Given the description of an element on the screen output the (x, y) to click on. 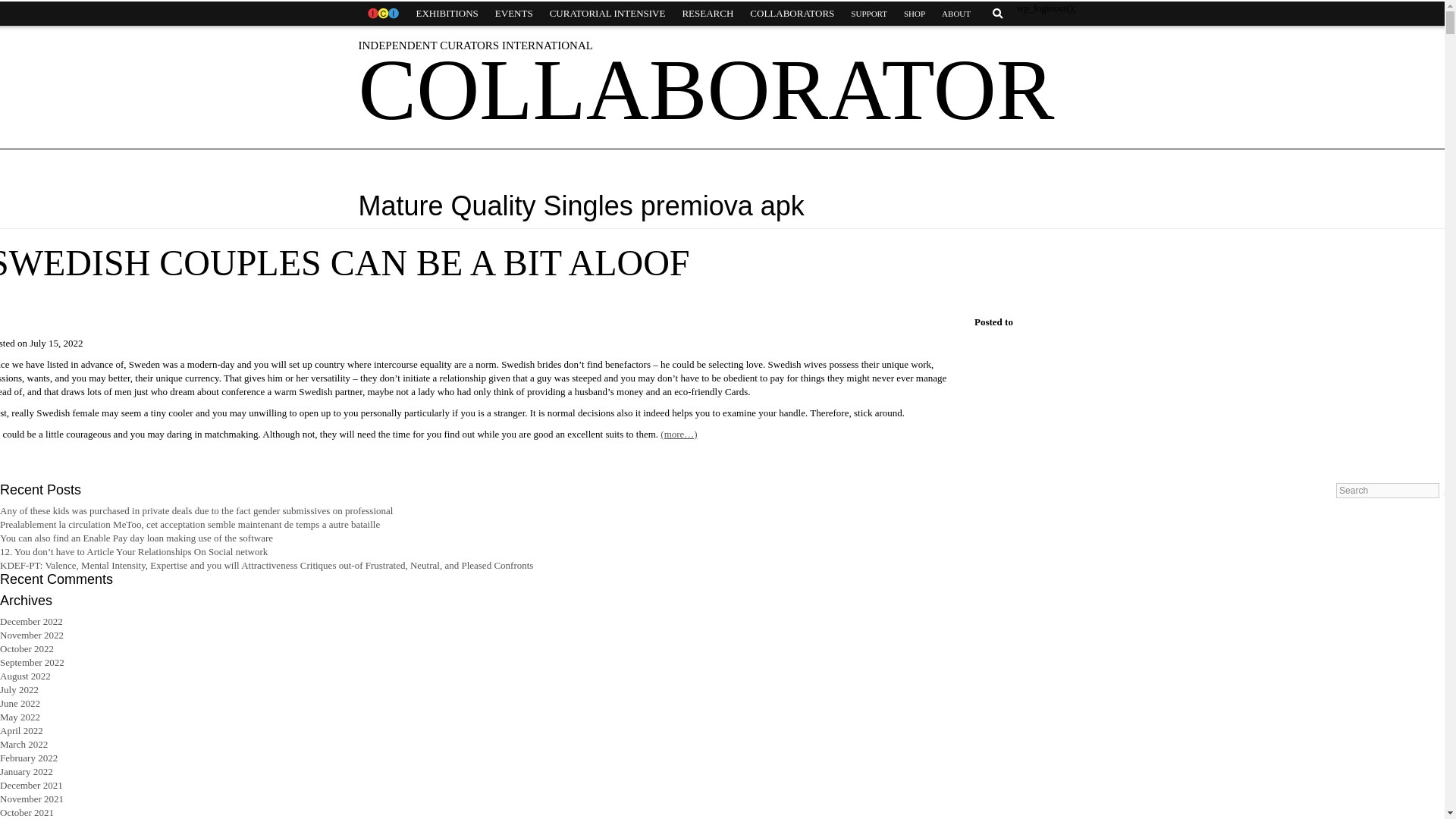
CURATORIAL INTENSIVE (607, 13)
EXHIBITIONS (446, 13)
HOME (382, 13)
RESEARCH (706, 13)
EVENTS (513, 13)
COLLABORATORS (792, 13)
